Given the description of an element on the screen output the (x, y) to click on. 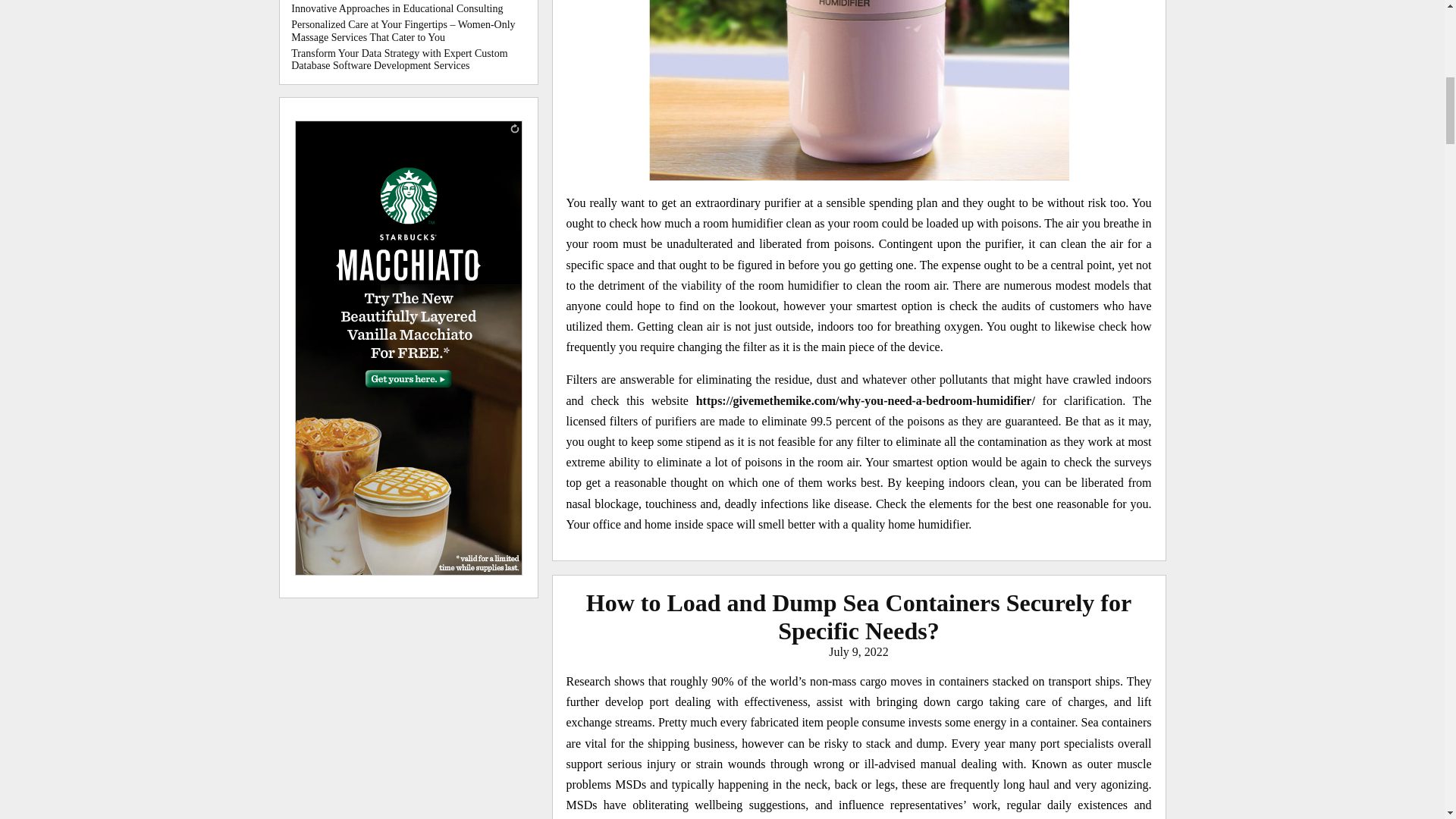
July 9, 2022 (858, 651)
